Given the description of an element on the screen output the (x, y) to click on. 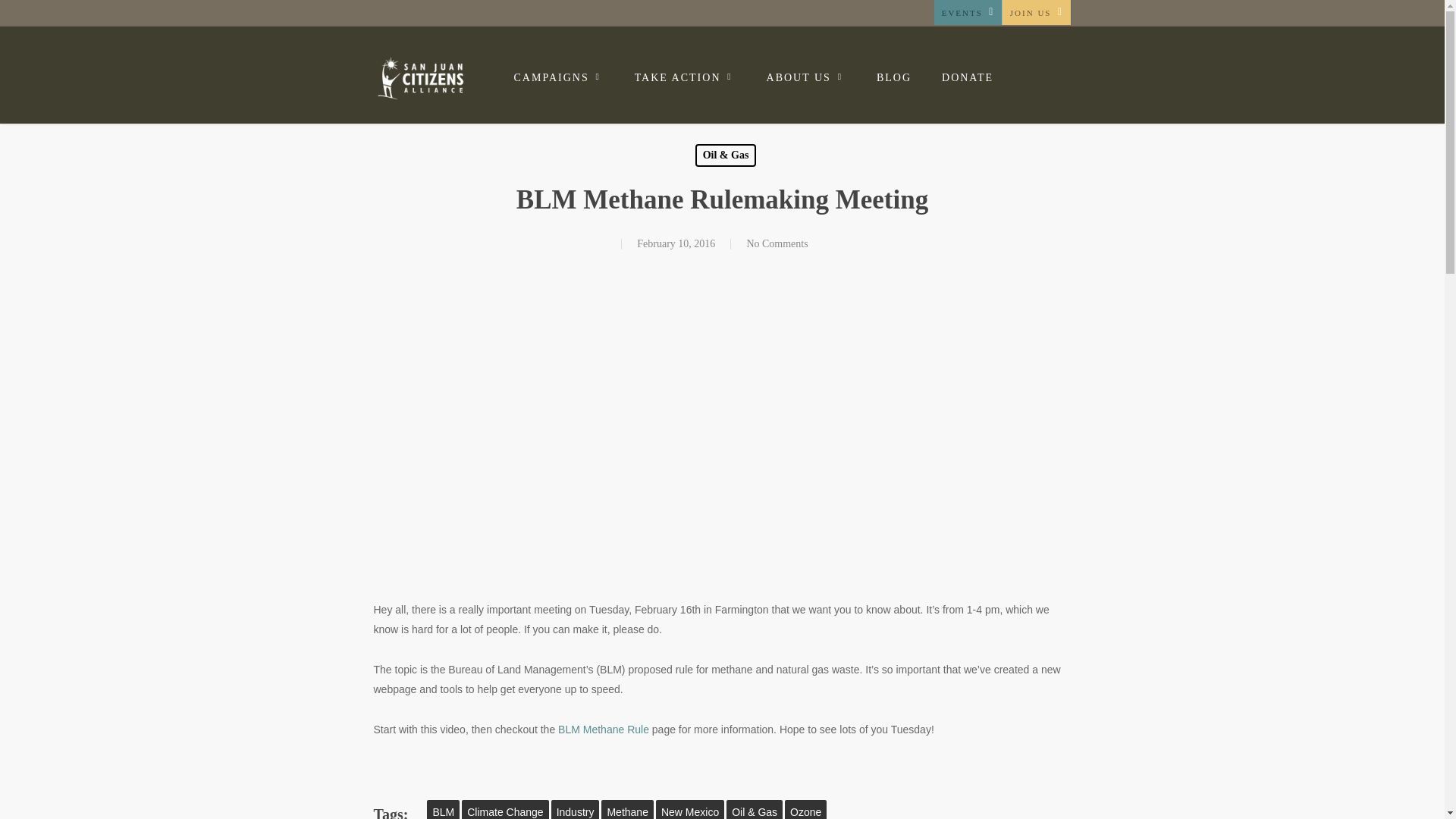
EVENTS (967, 12)
JOIN US (1035, 12)
CAMPAIGNS (559, 77)
